Given the description of an element on the screen output the (x, y) to click on. 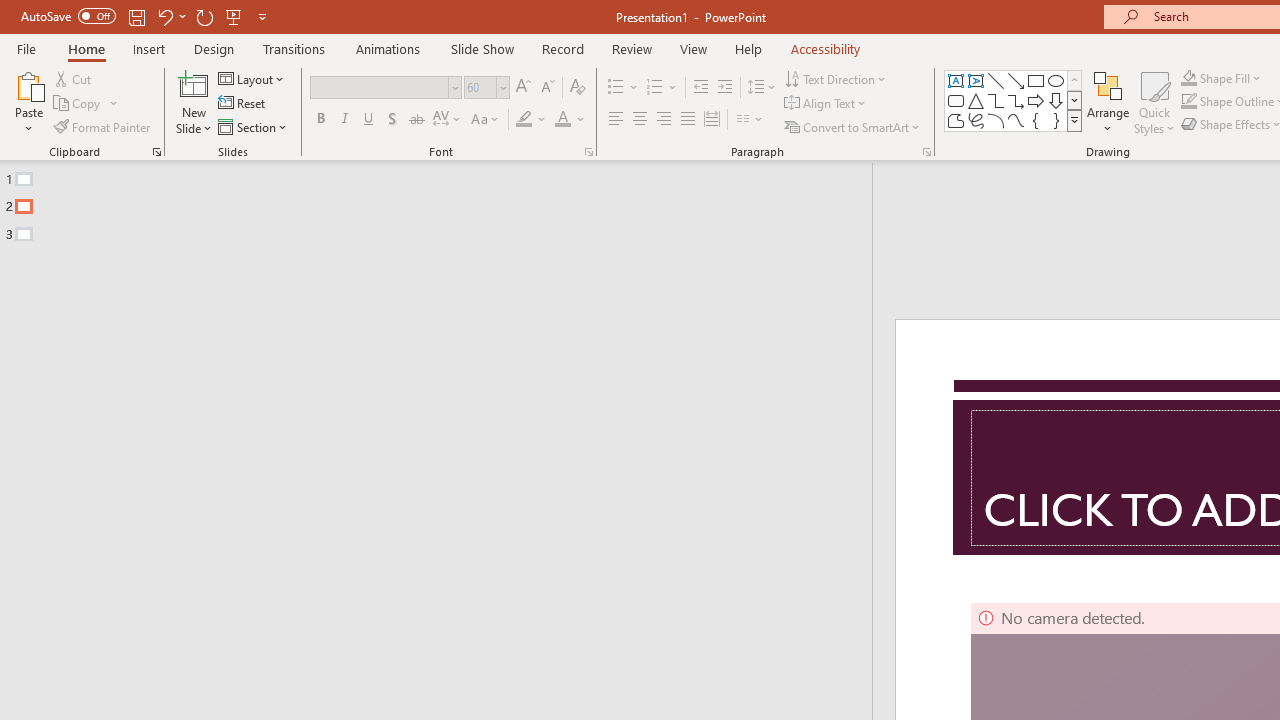
Outline (445, 202)
